Given the description of an element on the screen output the (x, y) to click on. 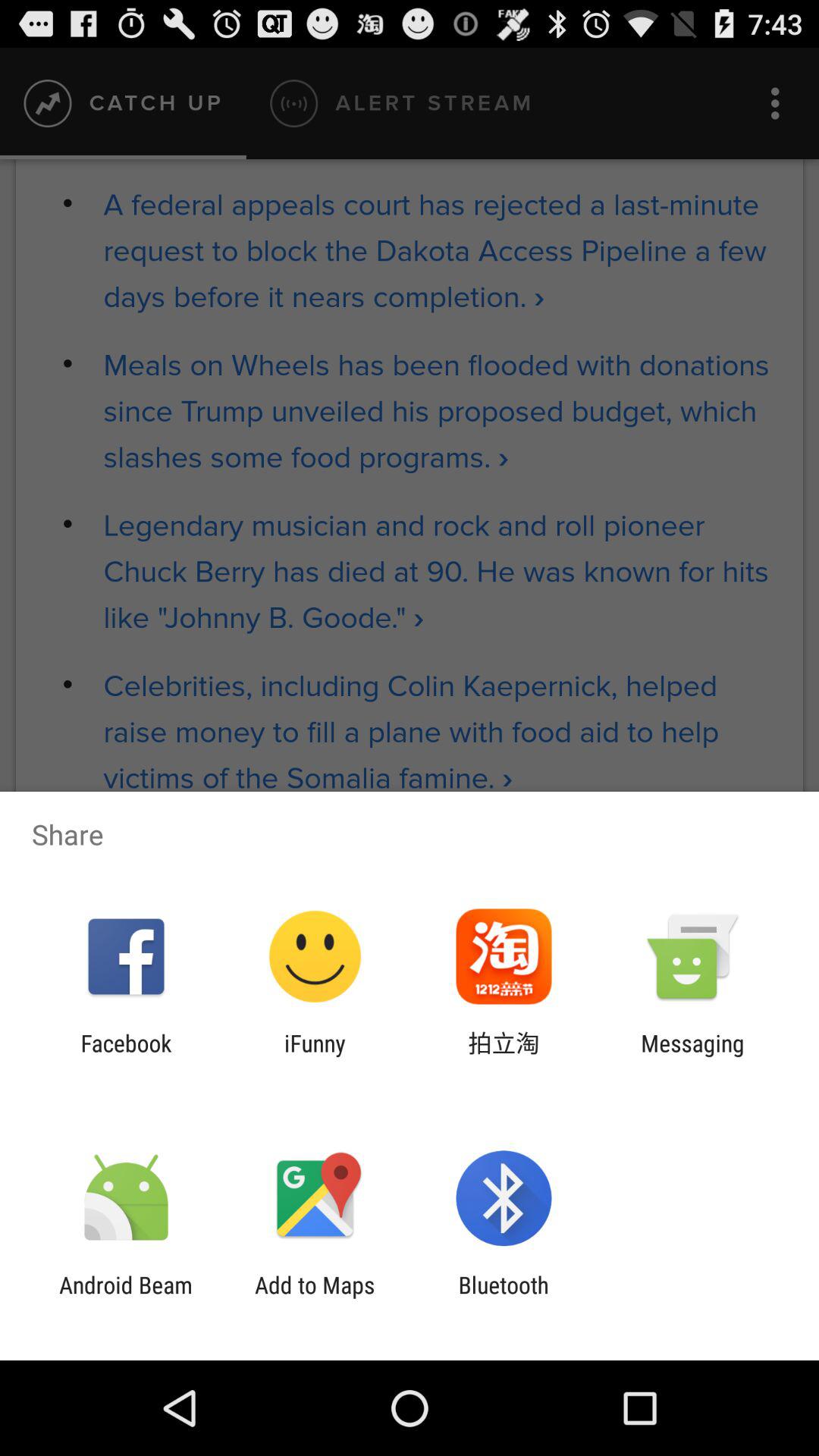
turn off item next to ifunny app (503, 1056)
